Given the description of an element on the screen output the (x, y) to click on. 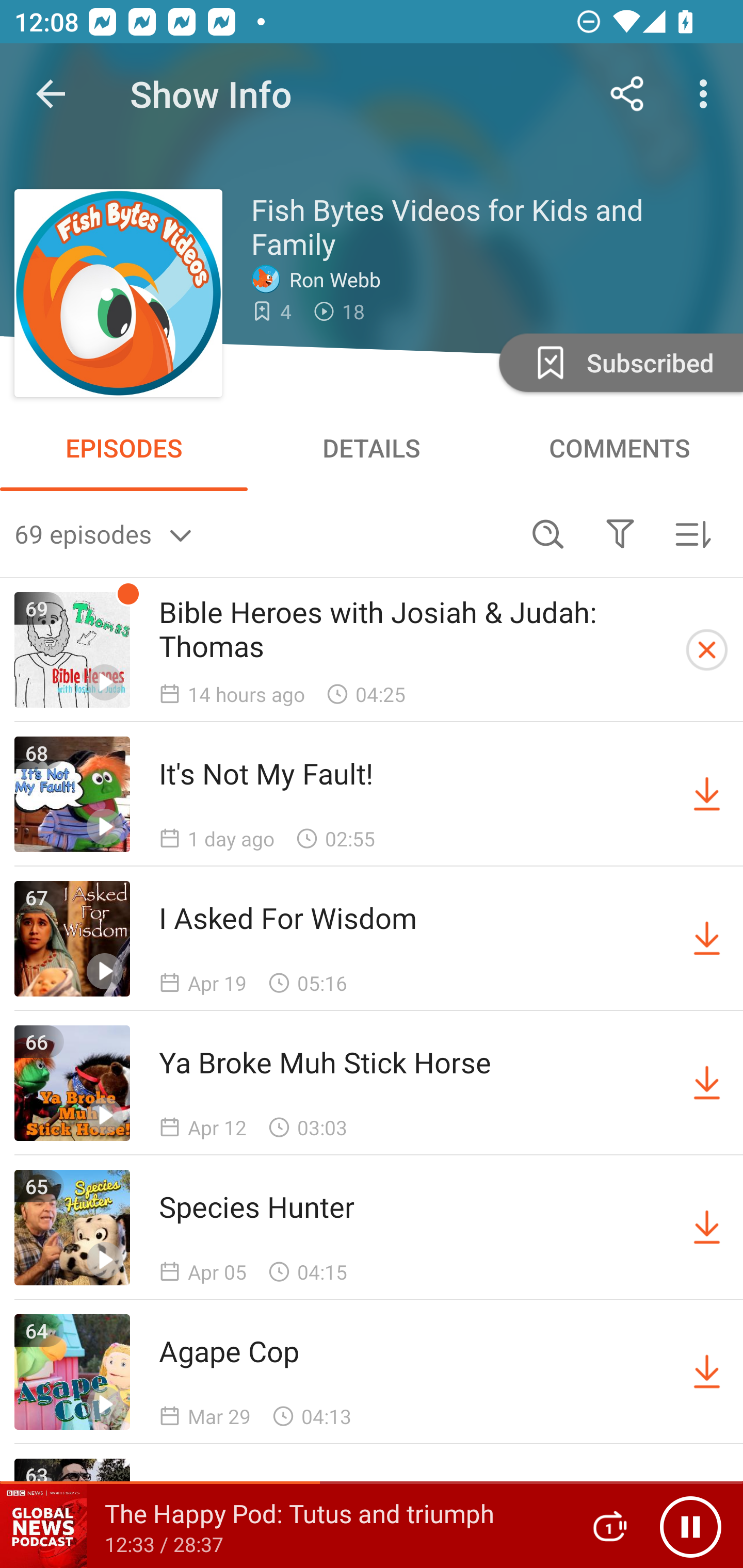
Navigate up (50, 93)
Share (626, 93)
More options (706, 93)
Ron Webb (320, 278)
Unsubscribe Subscribed (619, 361)
EPISODES (123, 447)
DETAILS (371, 447)
COMMENTS (619, 447)
69 episodes  (262, 533)
 Search (547, 533)
 (619, 533)
 Sorted by newest first (692, 533)
Cancel Downloading (706, 649)
Download (706, 793)
Download (706, 939)
Download (706, 1083)
Download (706, 1227)
Download (706, 1371)
The Happy Pod: Tutus and triumph 12:33 / 28:37 (283, 1525)
Pause (690, 1526)
